Given the description of an element on the screen output the (x, y) to click on. 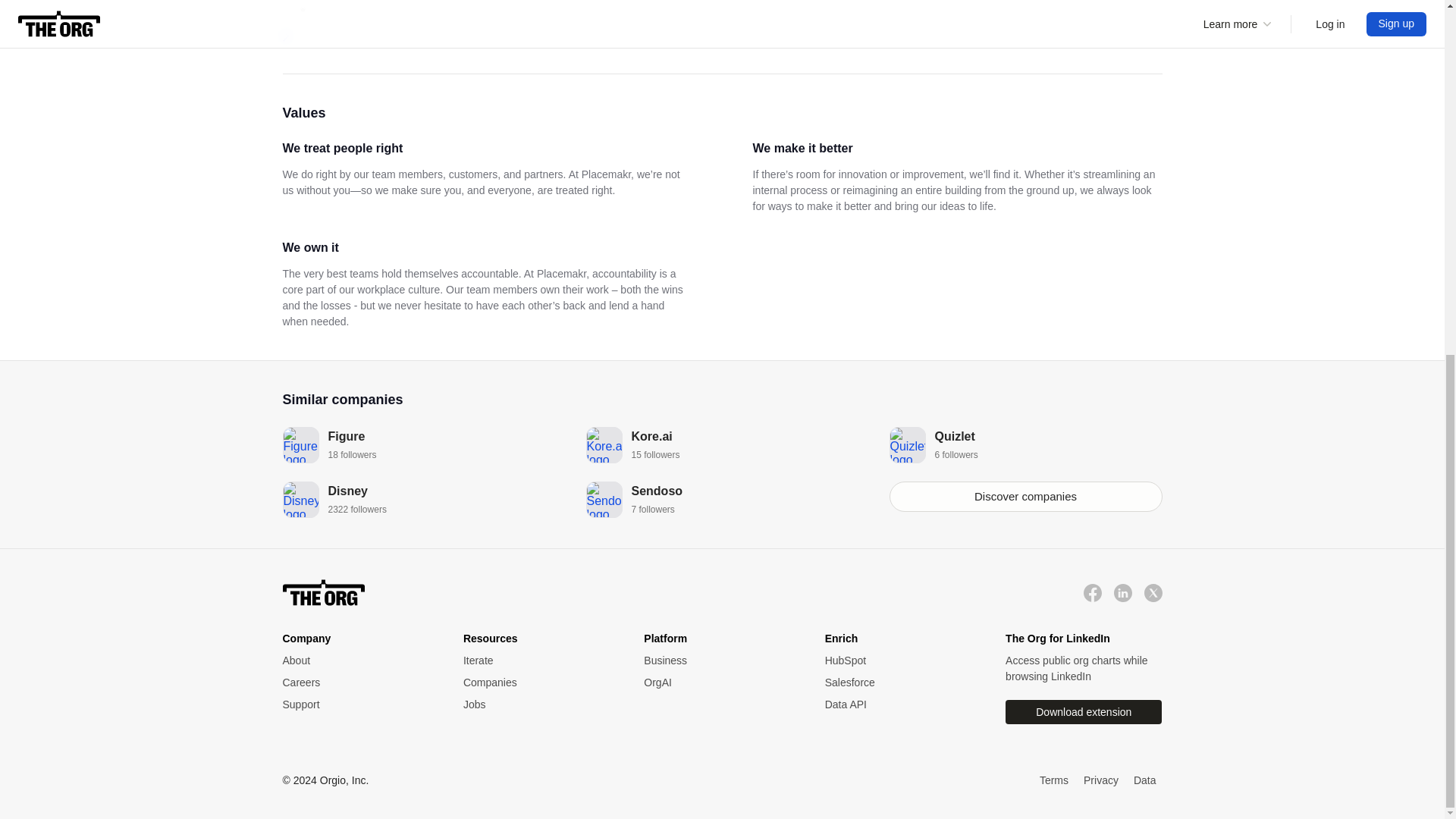
Careers (418, 499)
Facebook (357, 682)
The Org logo (722, 499)
Discover companies (1091, 592)
LinkedIn (323, 592)
About (1024, 496)
About (722, 444)
